Given the description of an element on the screen output the (x, y) to click on. 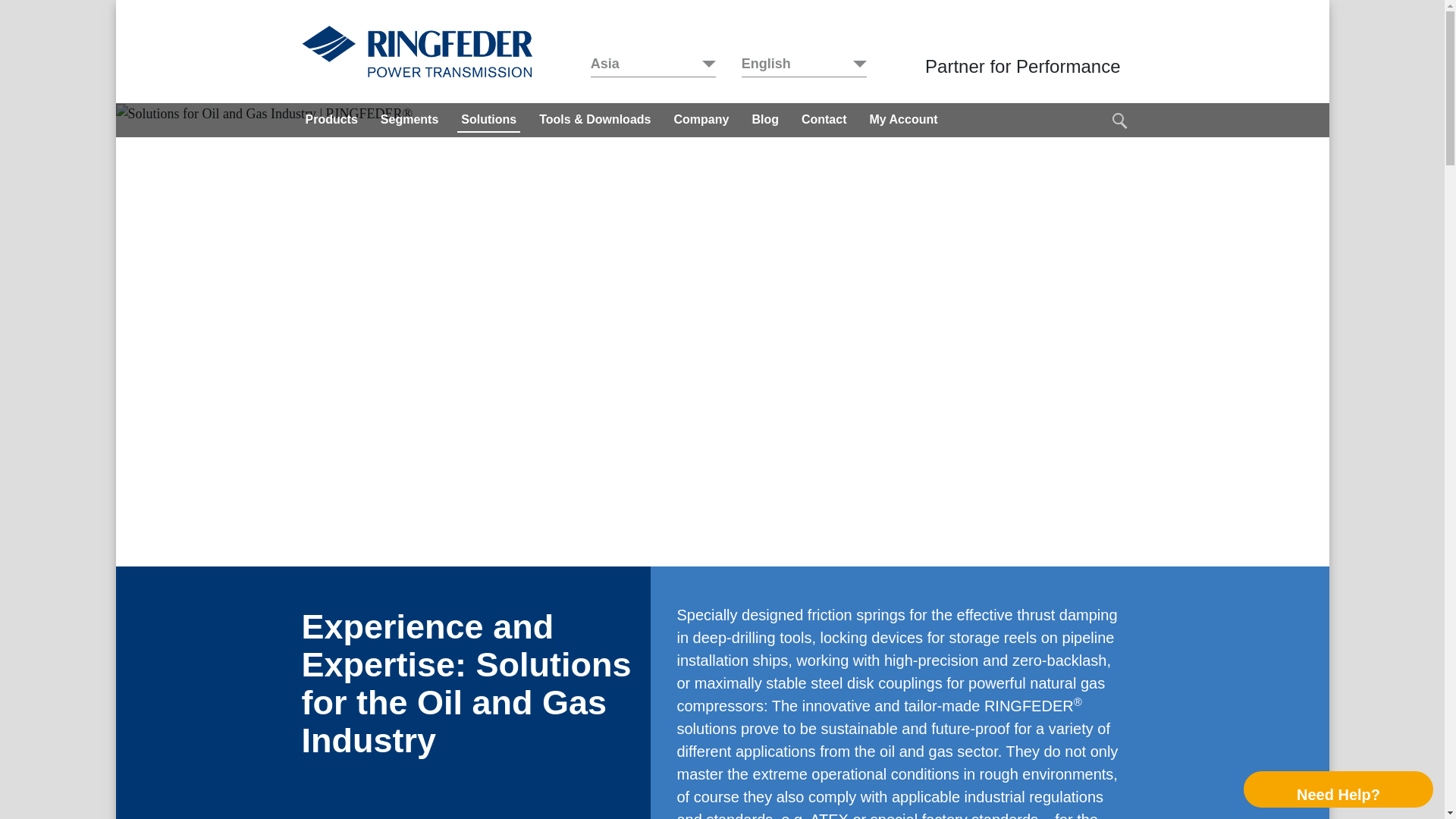
English (803, 64)
Segments (409, 119)
Products (331, 119)
Solutions (488, 119)
Asia (653, 64)
